Given the description of an element on the screen output the (x, y) to click on. 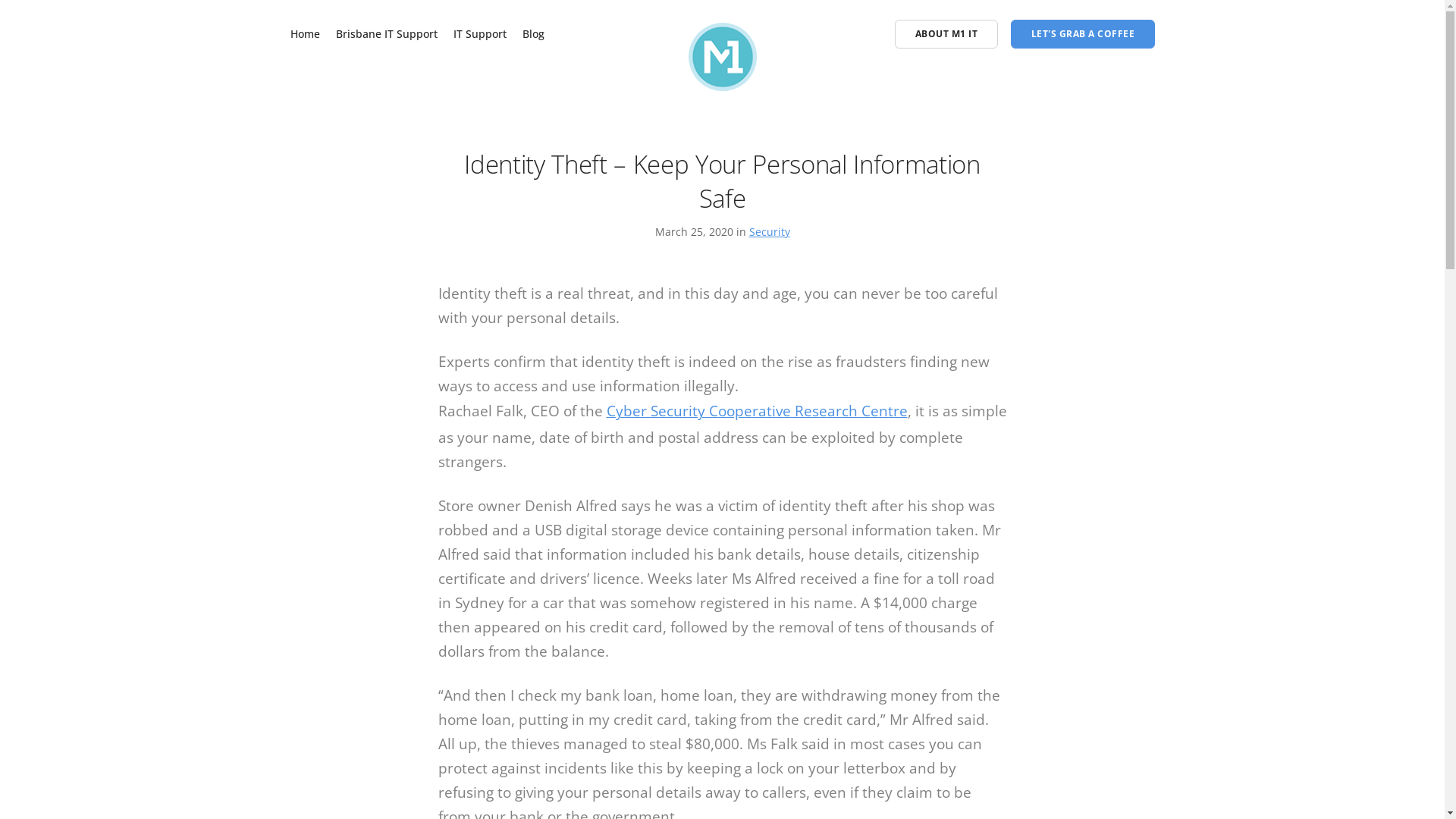
Blog Element type: text (533, 33)
IT Support Element type: text (479, 33)
Cyber Security Cooperative Research Centre Element type: text (756, 410)
Home Element type: text (304, 33)
ABOUT M1 IT Element type: text (945, 33)
Security Element type: text (769, 231)
Brisbane IT Support Element type: text (386, 33)
LET'S GRAB A COFFEE Element type: text (1082, 33)
